Given the description of an element on the screen output the (x, y) to click on. 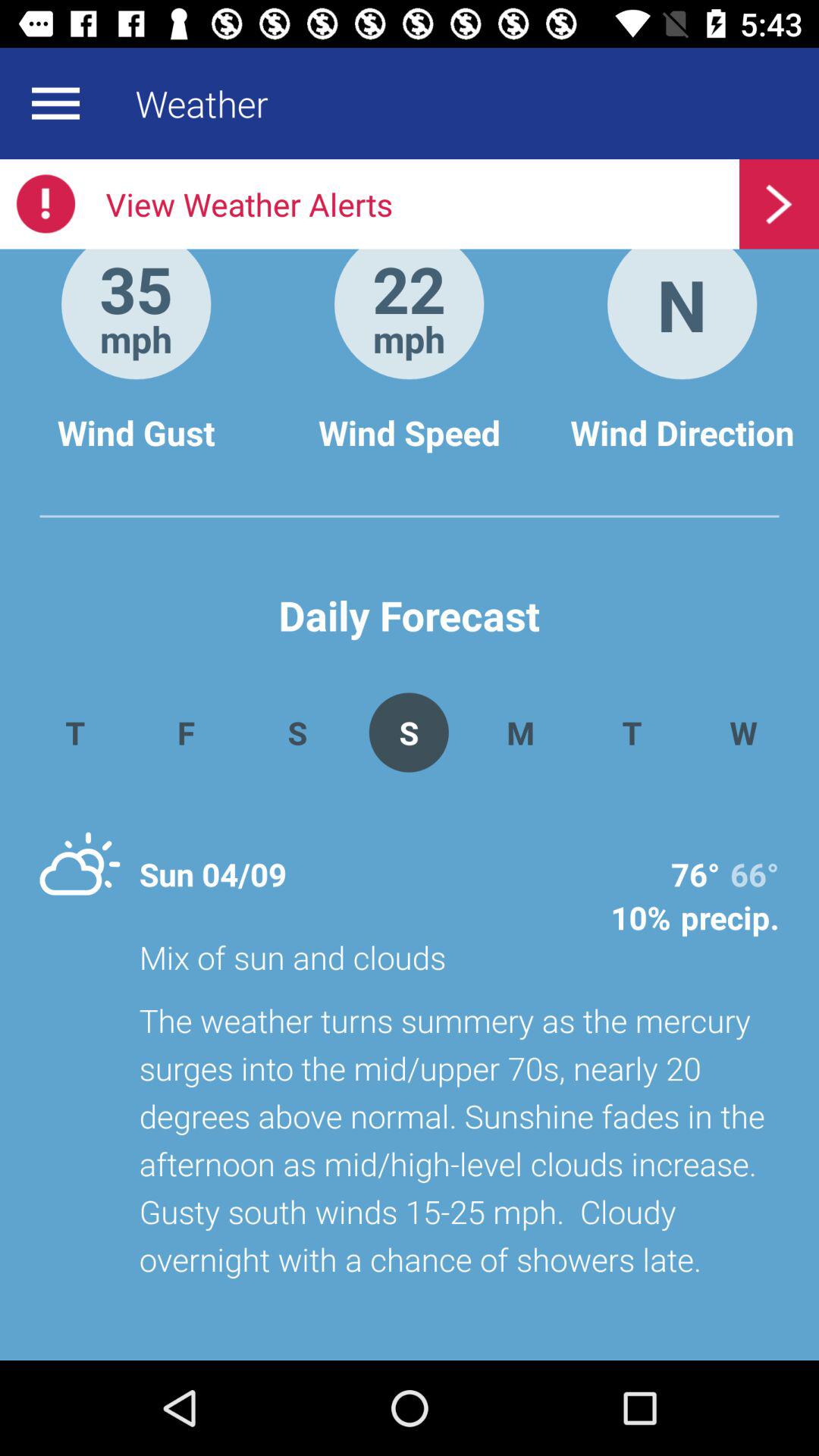
turn off w item (743, 732)
